Given the description of an element on the screen output the (x, y) to click on. 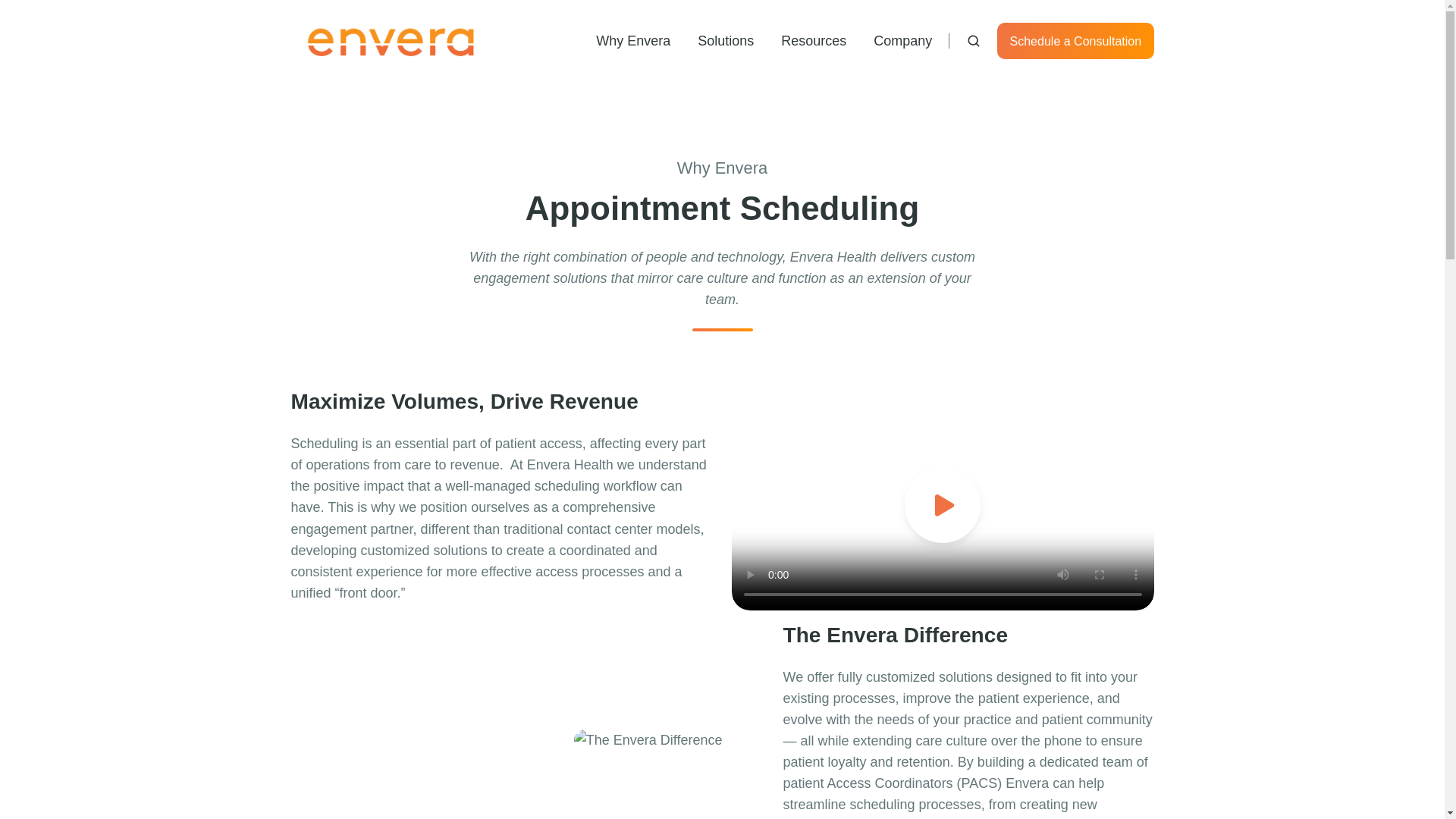
Solutions (725, 40)
Company (902, 40)
envera-transparent (392, 40)
Schedule a Consultation (1075, 40)
Why Envera (632, 40)
Resources (812, 40)
